Given the description of an element on the screen output the (x, y) to click on. 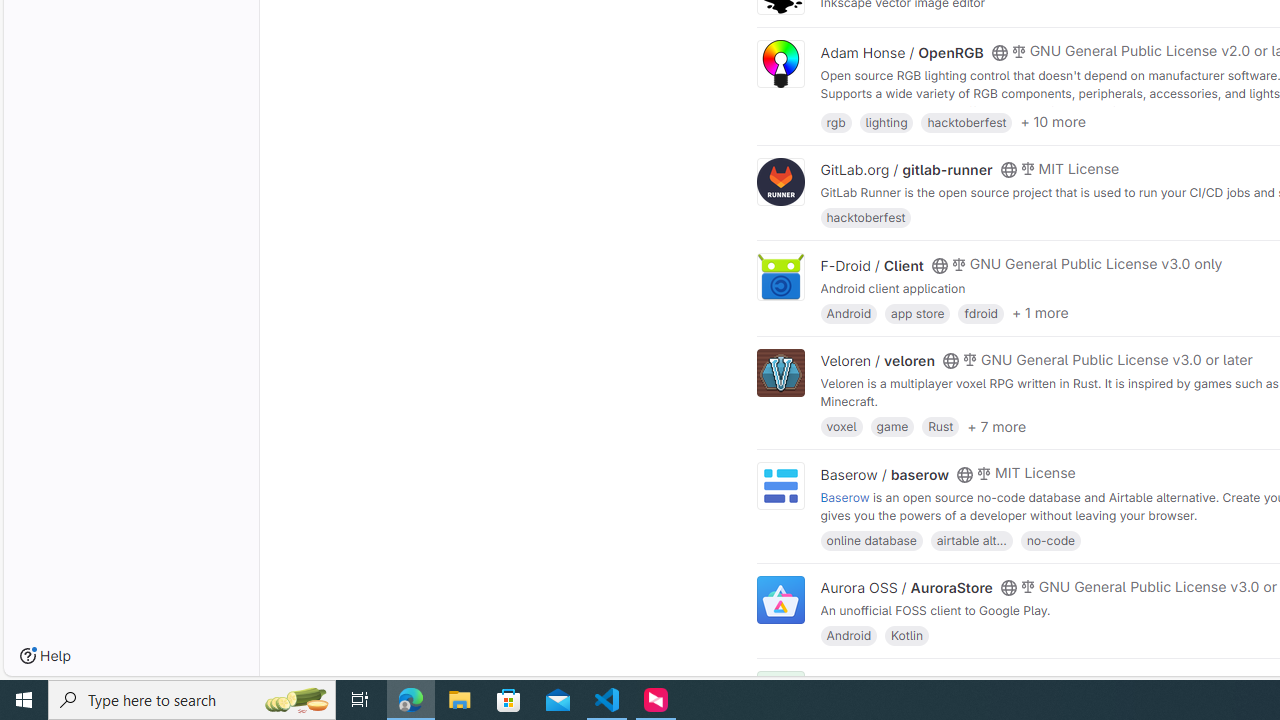
Edouard Klein / falsisign (902, 682)
Class: s16 (999, 683)
Baserow / baserow (884, 474)
+ 10 more (1053, 121)
rgb (836, 120)
Baserow (845, 496)
+ 1 more (1039, 313)
Class: s14 gl-mr-2 (1018, 681)
airtable alt... (971, 539)
F-Droid / Client (872, 265)
no-code (1050, 539)
voxel (841, 426)
Rust (940, 426)
fdroid (980, 312)
Android (848, 634)
